Given the description of an element on the screen output the (x, y) to click on. 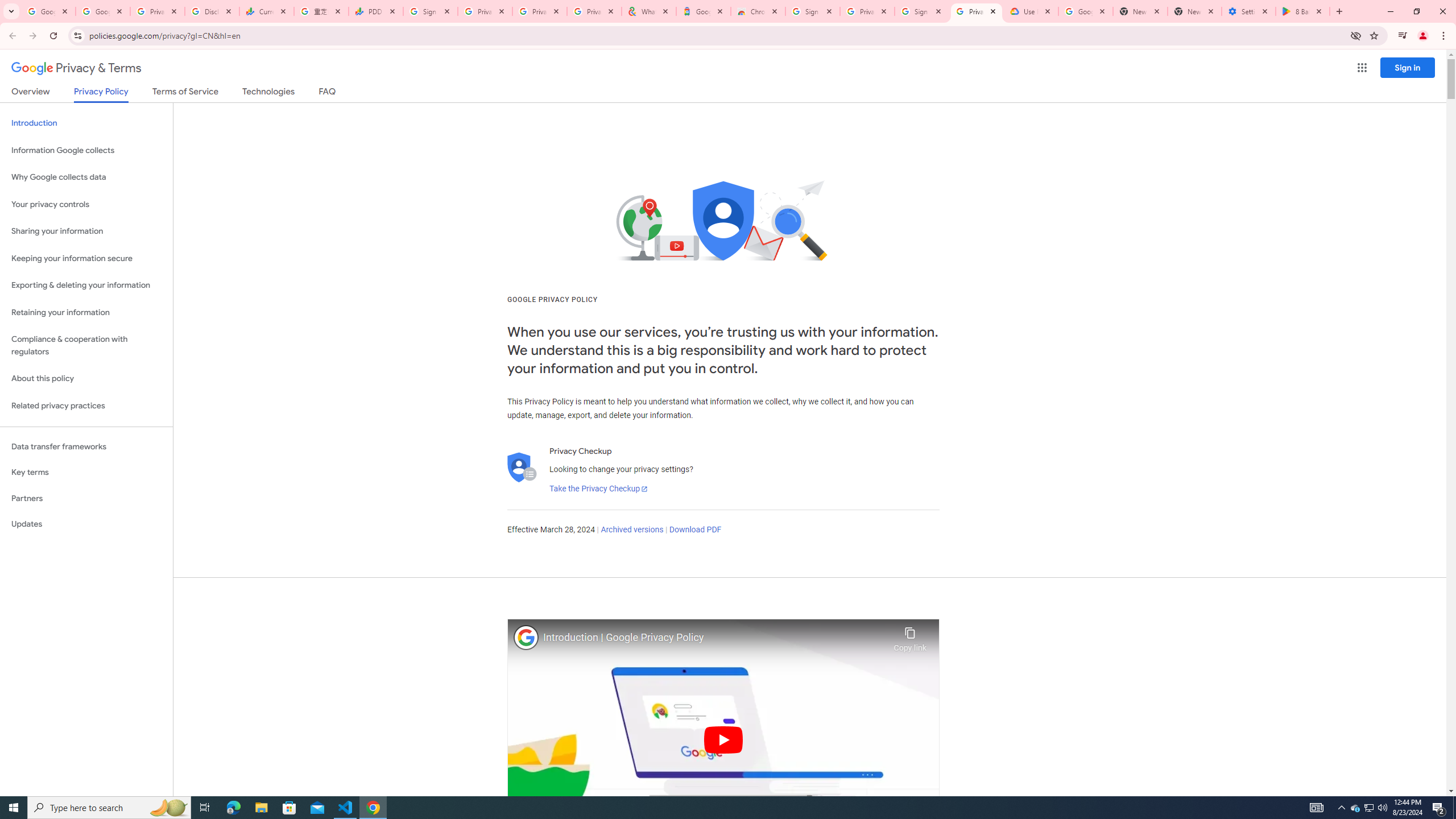
New Tab (1194, 11)
Take the Privacy Checkup (597, 488)
PDD Holdings Inc - ADR (PDD) Price & News - Google Finance (375, 11)
Copy link (909, 636)
Privacy Checkup (594, 11)
